Given the description of an element on the screen output the (x, y) to click on. 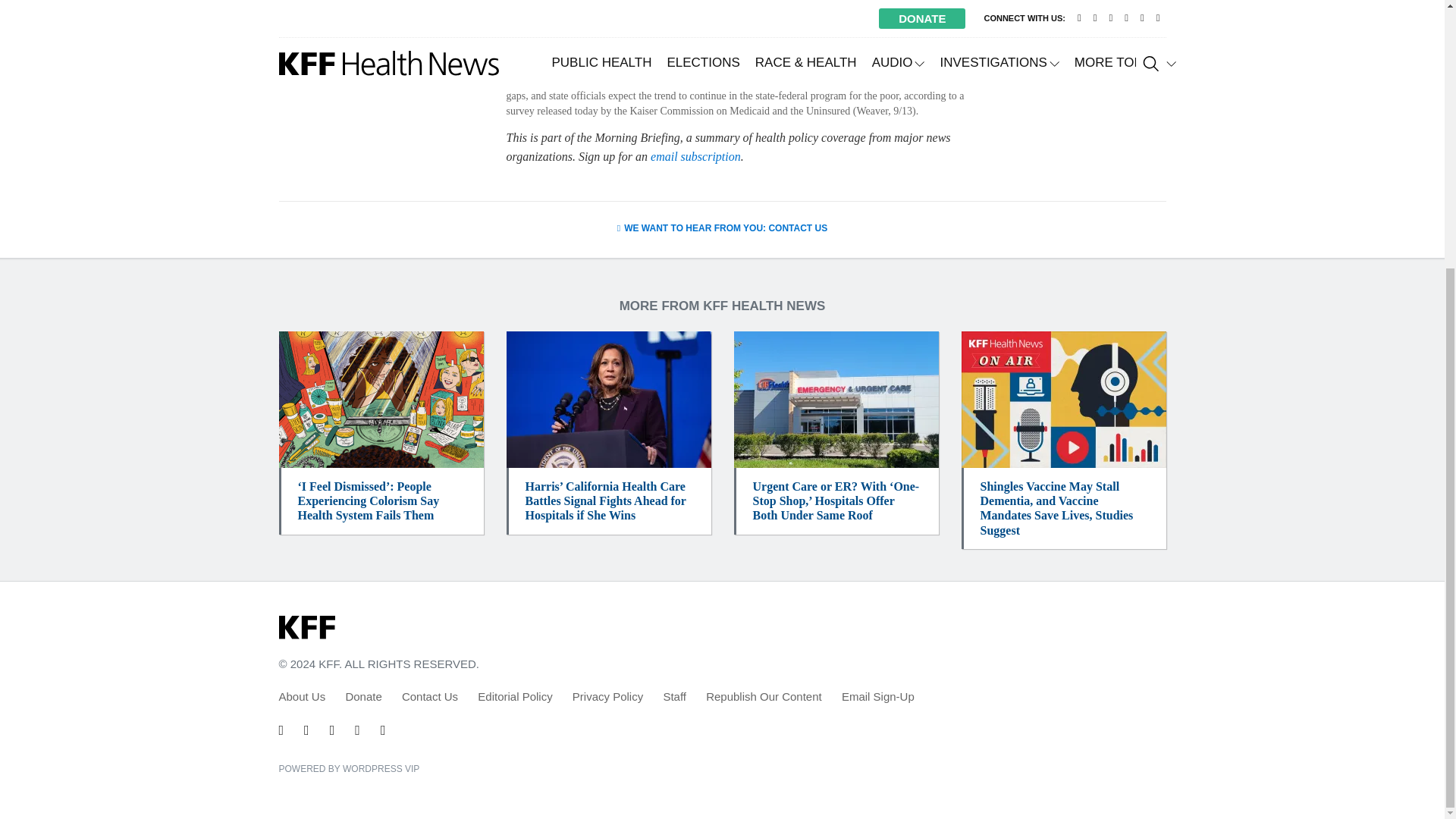
KFF (306, 627)
